Given the description of an element on the screen output the (x, y) to click on. 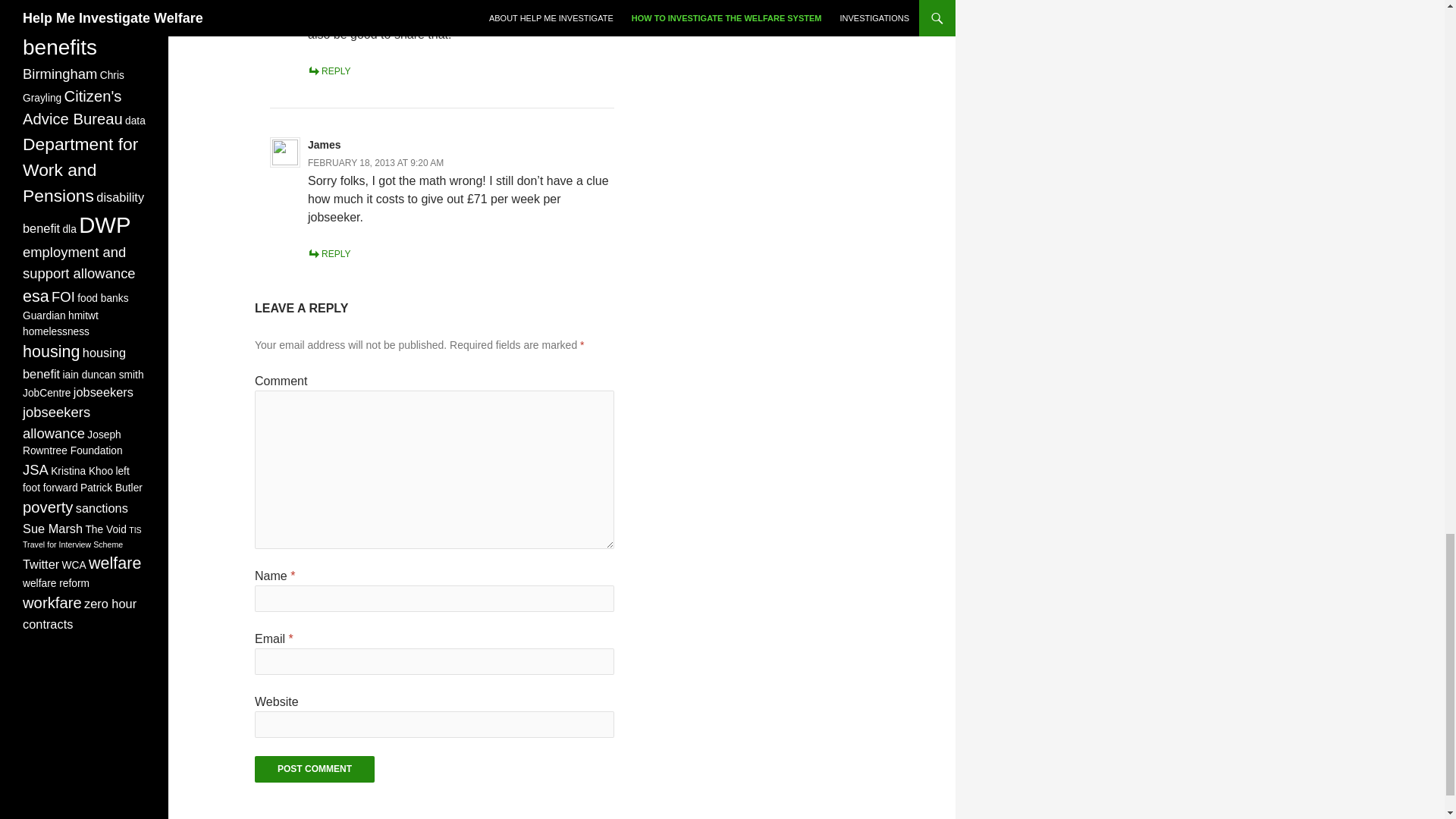
REPLY (328, 253)
Post Comment (314, 768)
3 topics (48, 22)
Post Comment (314, 768)
FEBRUARY 18, 2013 AT 9:20 AM (375, 163)
3 topics (106, 22)
REPLY (328, 71)
7 topics (68, 6)
